Given the description of an element on the screen output the (x, y) to click on. 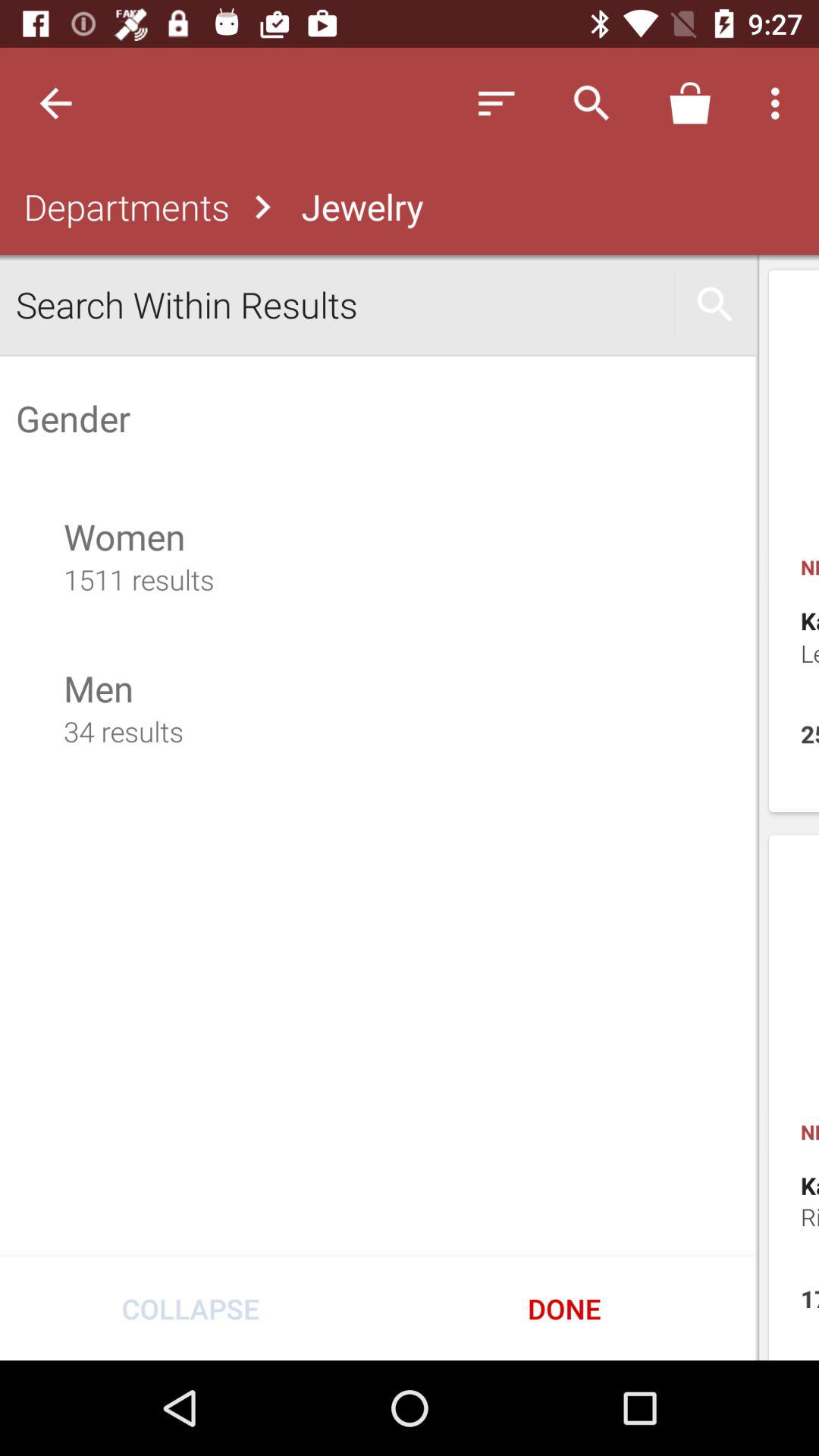
turn on departments (122, 206)
